Given the description of an element on the screen output the (x, y) to click on. 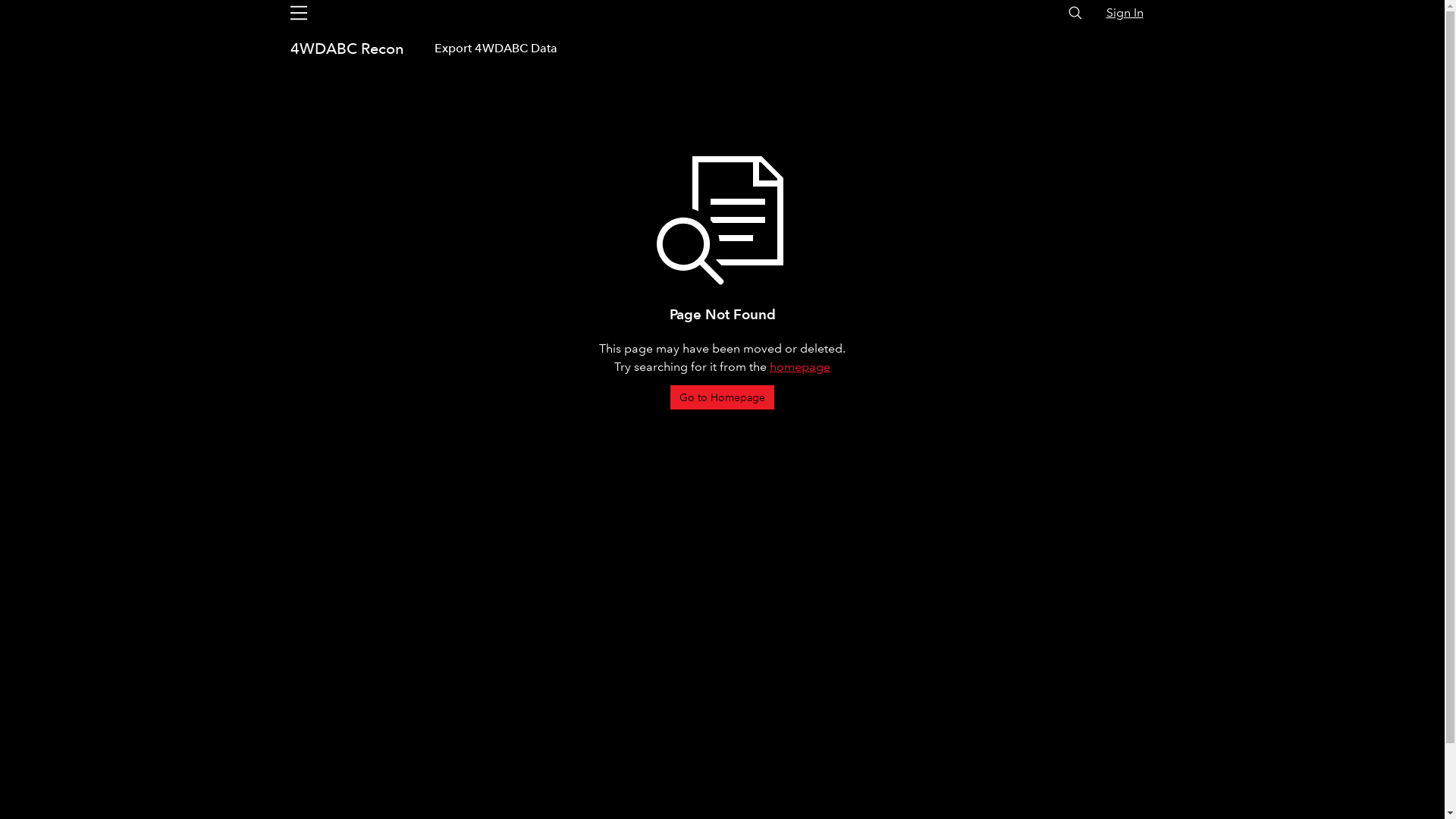
Global Nav Menu Element type: text (297, 12)
4WDABC Recon Element type: text (348, 48)
Sign In Element type: text (1123, 12)
search Element type: text (1074, 12)
